Given the description of an element on the screen output the (x, y) to click on. 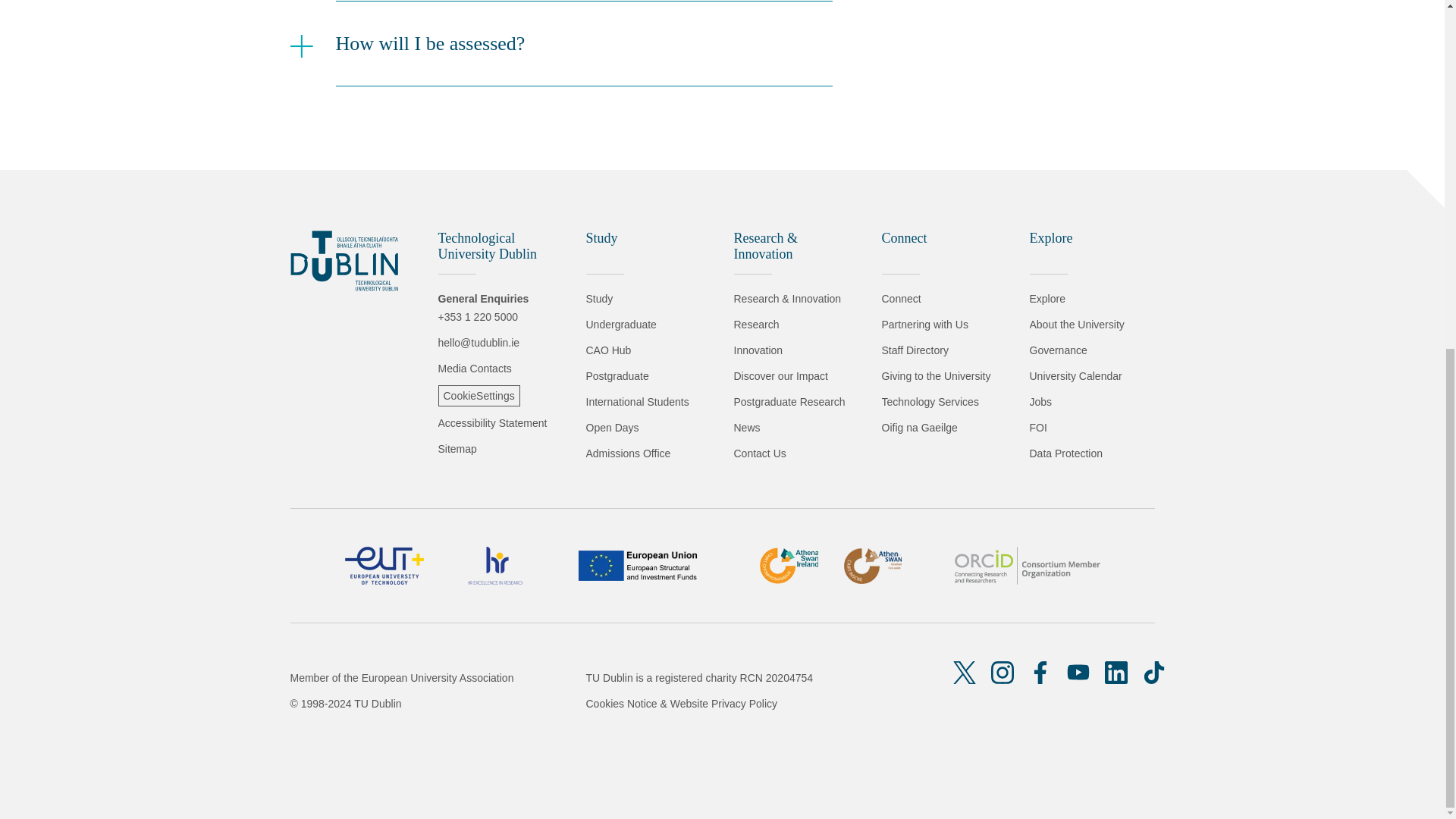
TikTok (1154, 671)
YouTube (1078, 671)
Facebook (1040, 671)
Instagram (1002, 671)
LinkedIn (1115, 671)
Twitter (964, 671)
